Given the description of an element on the screen output the (x, y) to click on. 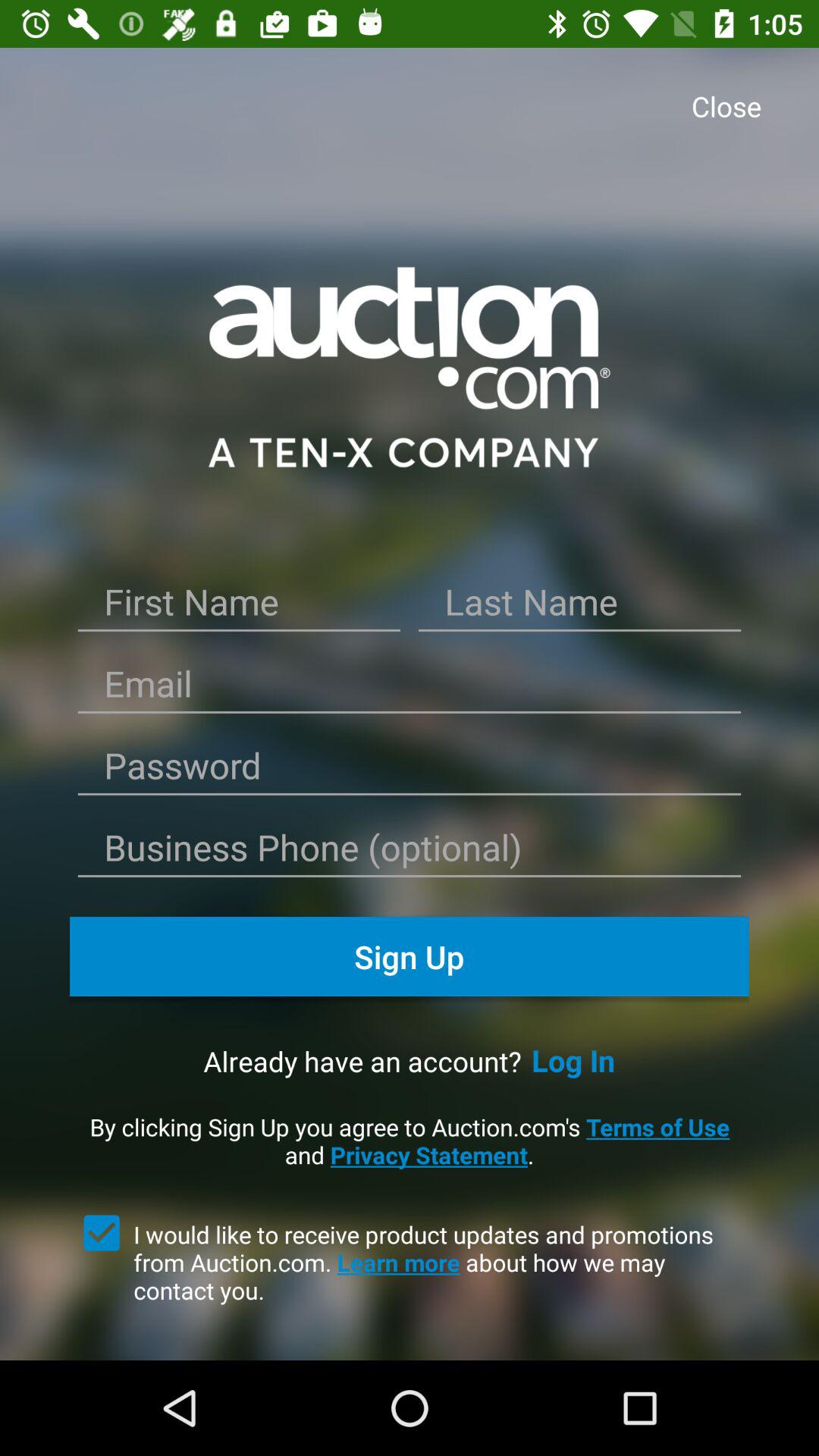
click item to the left of i would like item (101, 1232)
